Given the description of an element on the screen output the (x, y) to click on. 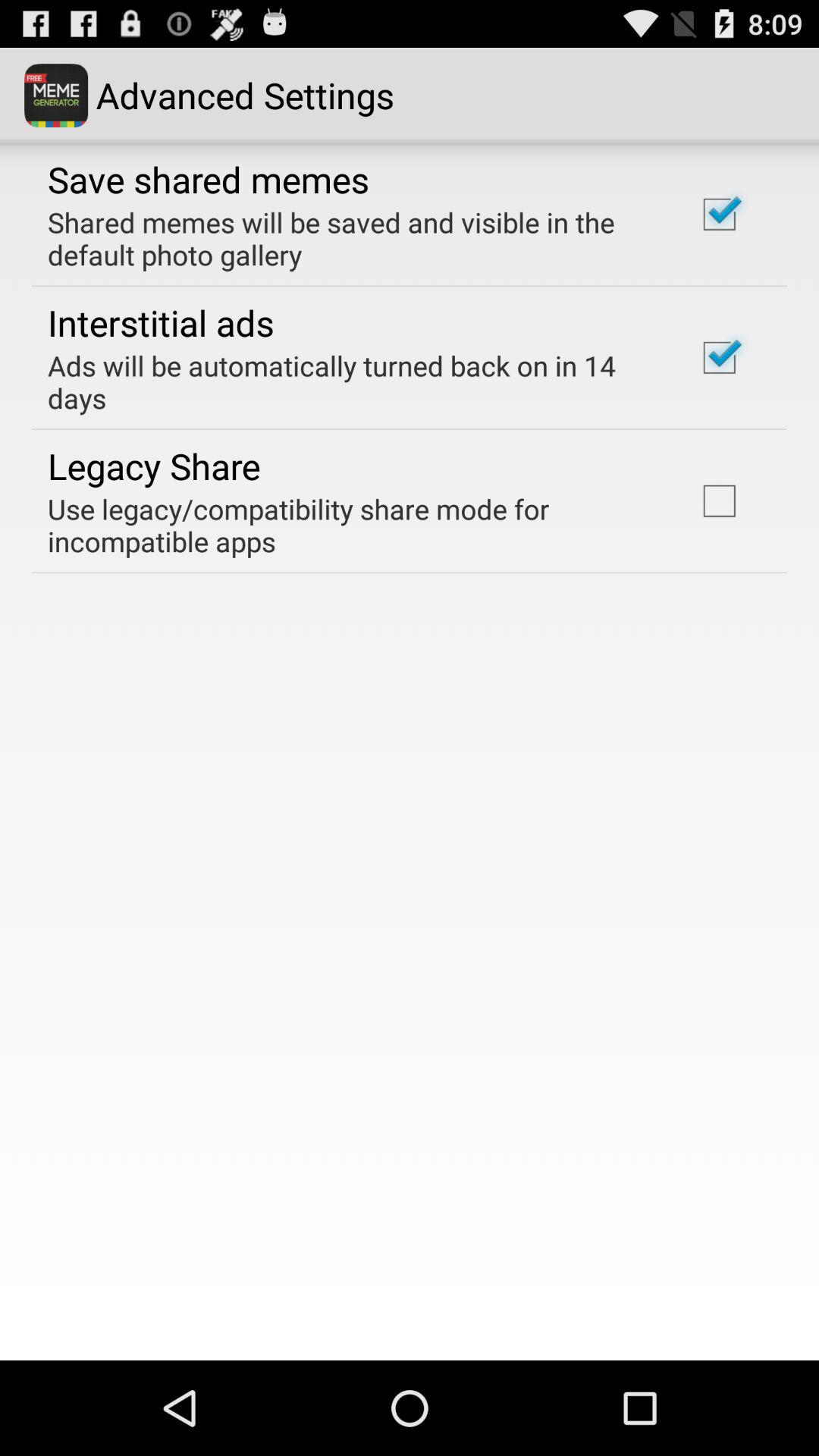
choose interstitial ads item (160, 322)
